Given the description of an element on the screen output the (x, y) to click on. 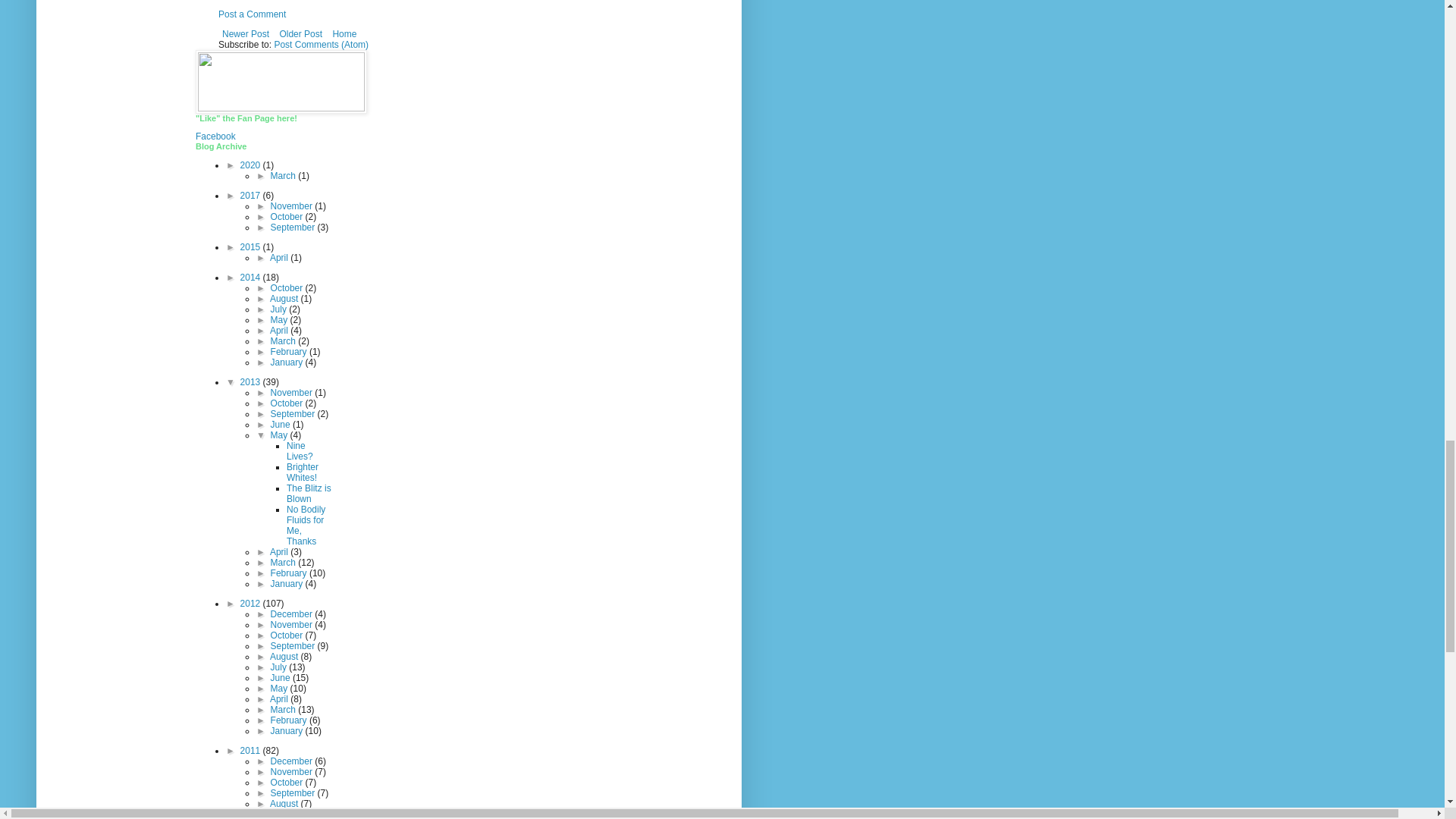
Newer Post (245, 34)
Newer Post (245, 34)
Post a Comment (251, 14)
March (284, 175)
October (287, 216)
Home (344, 34)
2017 (251, 195)
2020 (251, 164)
Older Post (300, 34)
September (293, 226)
November (292, 205)
Older Post (300, 34)
Facebook (215, 136)
